Given the description of an element on the screen output the (x, y) to click on. 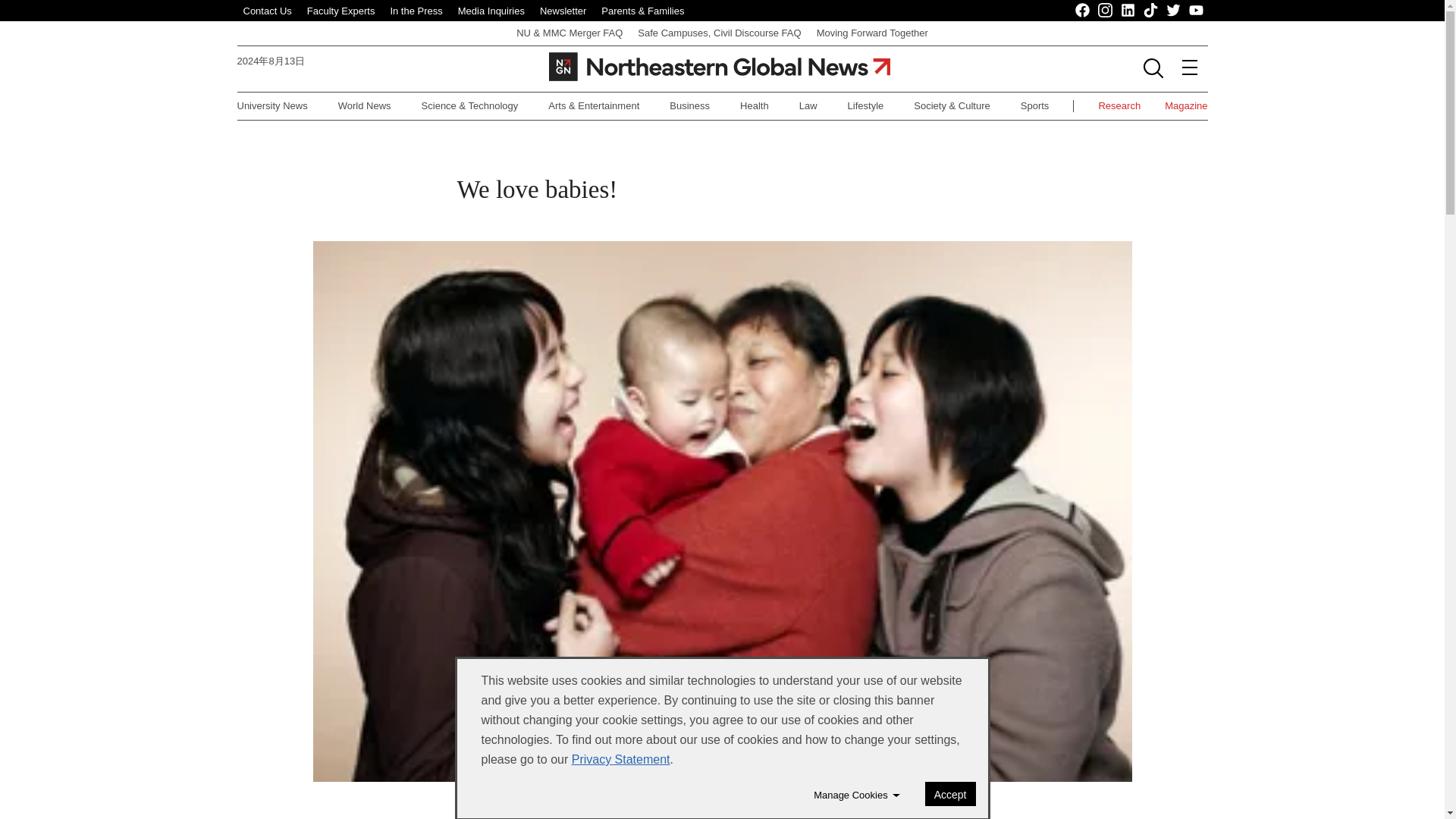
Moving Forward Together (872, 32)
Instagram (1105, 10)
In the Press (416, 10)
Contact Us (267, 10)
Youtube (1196, 10)
Twitter (1173, 10)
LinkedIn (1128, 10)
Safe Campuses, Civil Discourse FAQ (718, 32)
Privacy information (620, 758)
Media Inquiries (491, 10)
